Given the description of an element on the screen output the (x, y) to click on. 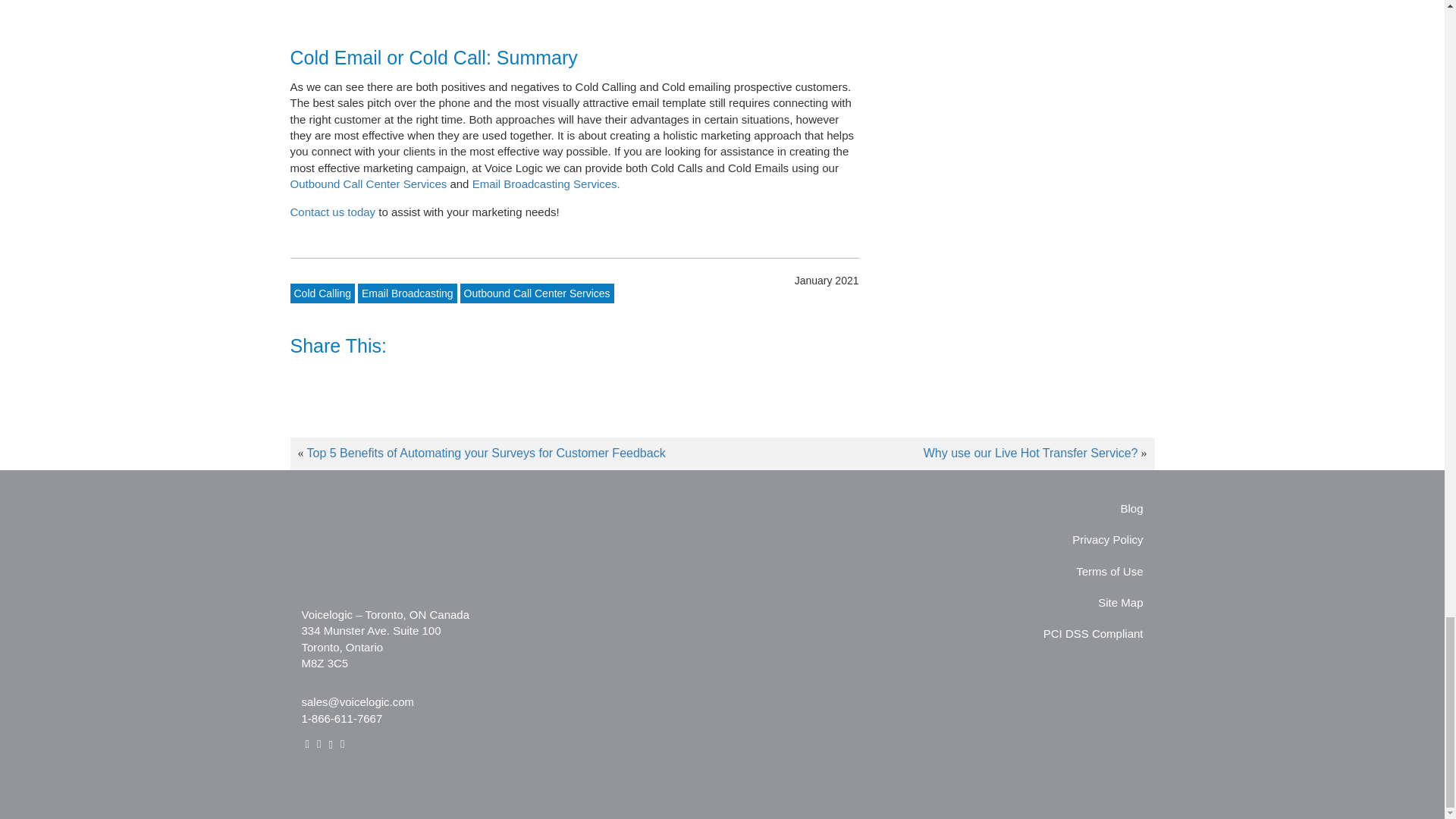
Email Broadcasting Services. (545, 183)
Contact us today (332, 211)
Outbound Call Center Services (537, 293)
Cold Calling (321, 293)
Email Broadcasting (407, 293)
Outbound Call Center Services (369, 183)
